Given the description of an element on the screen output the (x, y) to click on. 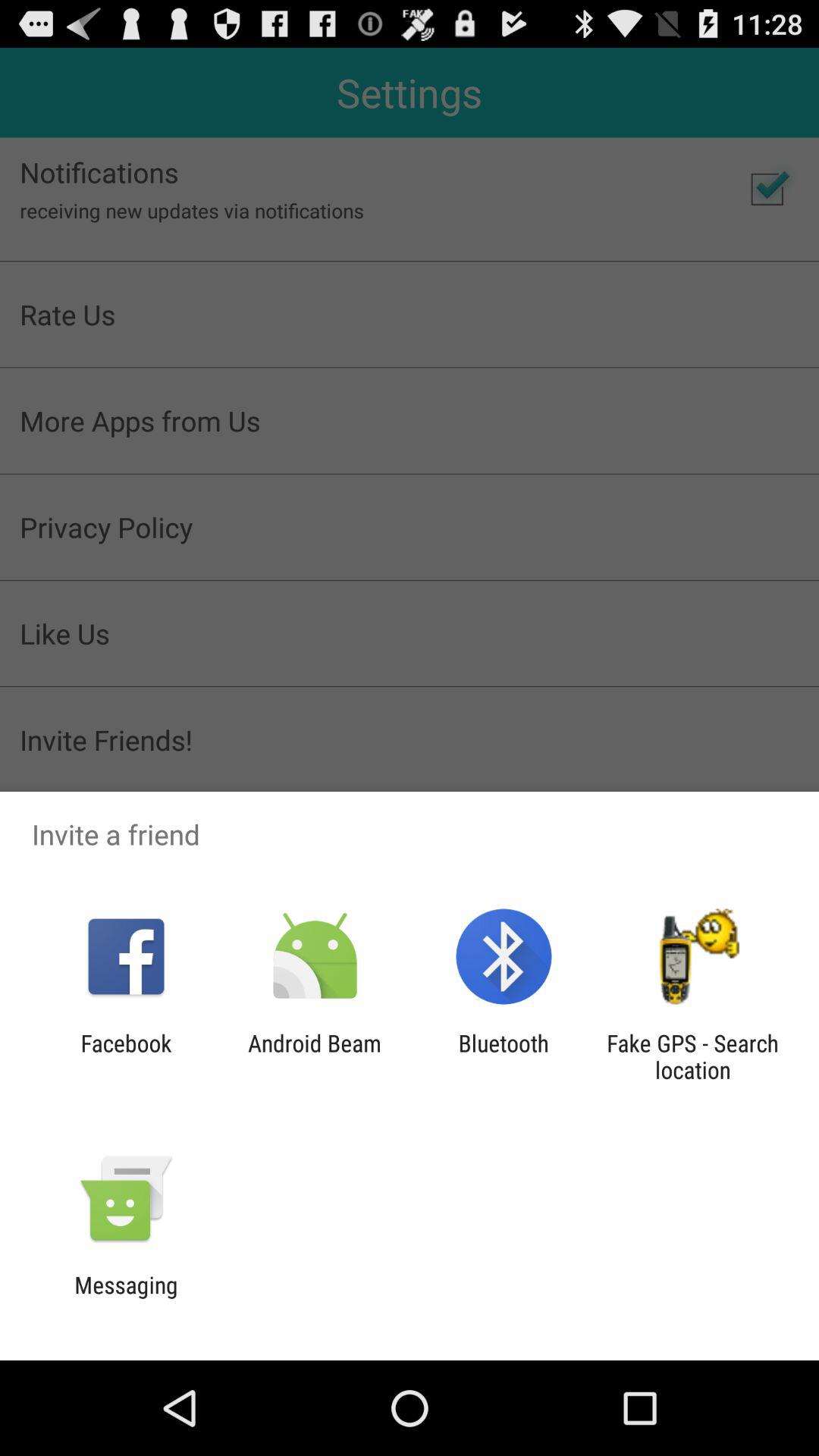
turn off the item at the bottom right corner (692, 1056)
